Given the description of an element on the screen output the (x, y) to click on. 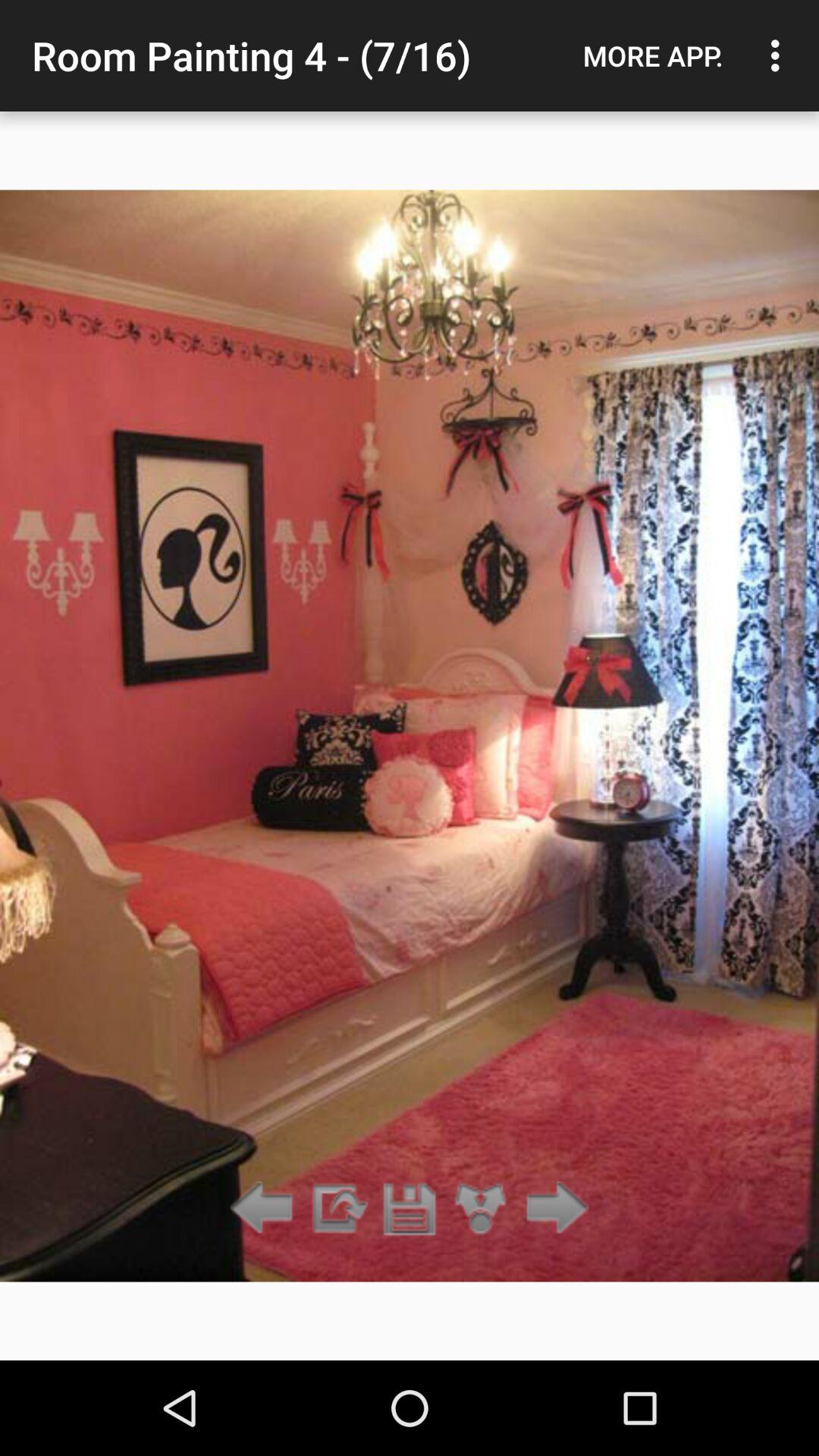
go to next picture (552, 1209)
